Given the description of an element on the screen output the (x, y) to click on. 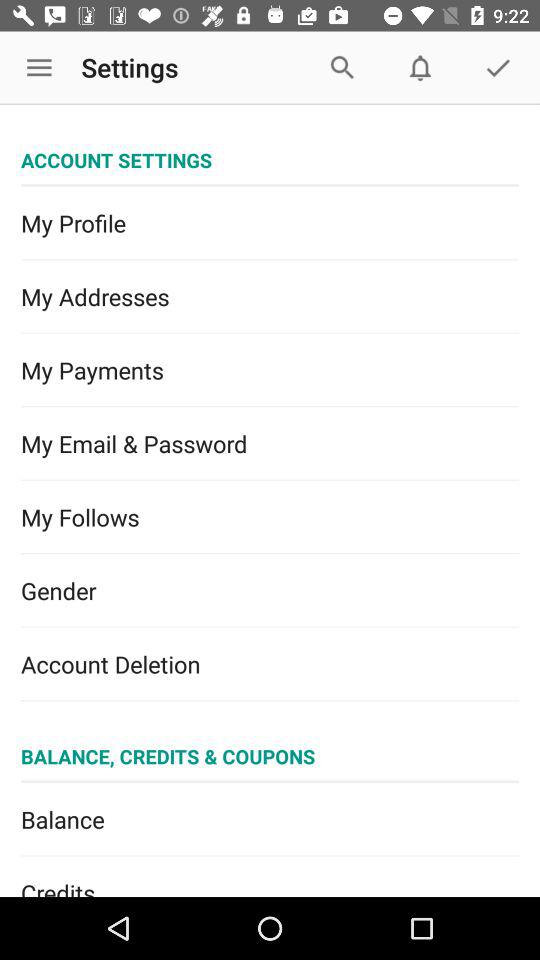
press my email & password (270, 443)
